Given the description of an element on the screen output the (x, y) to click on. 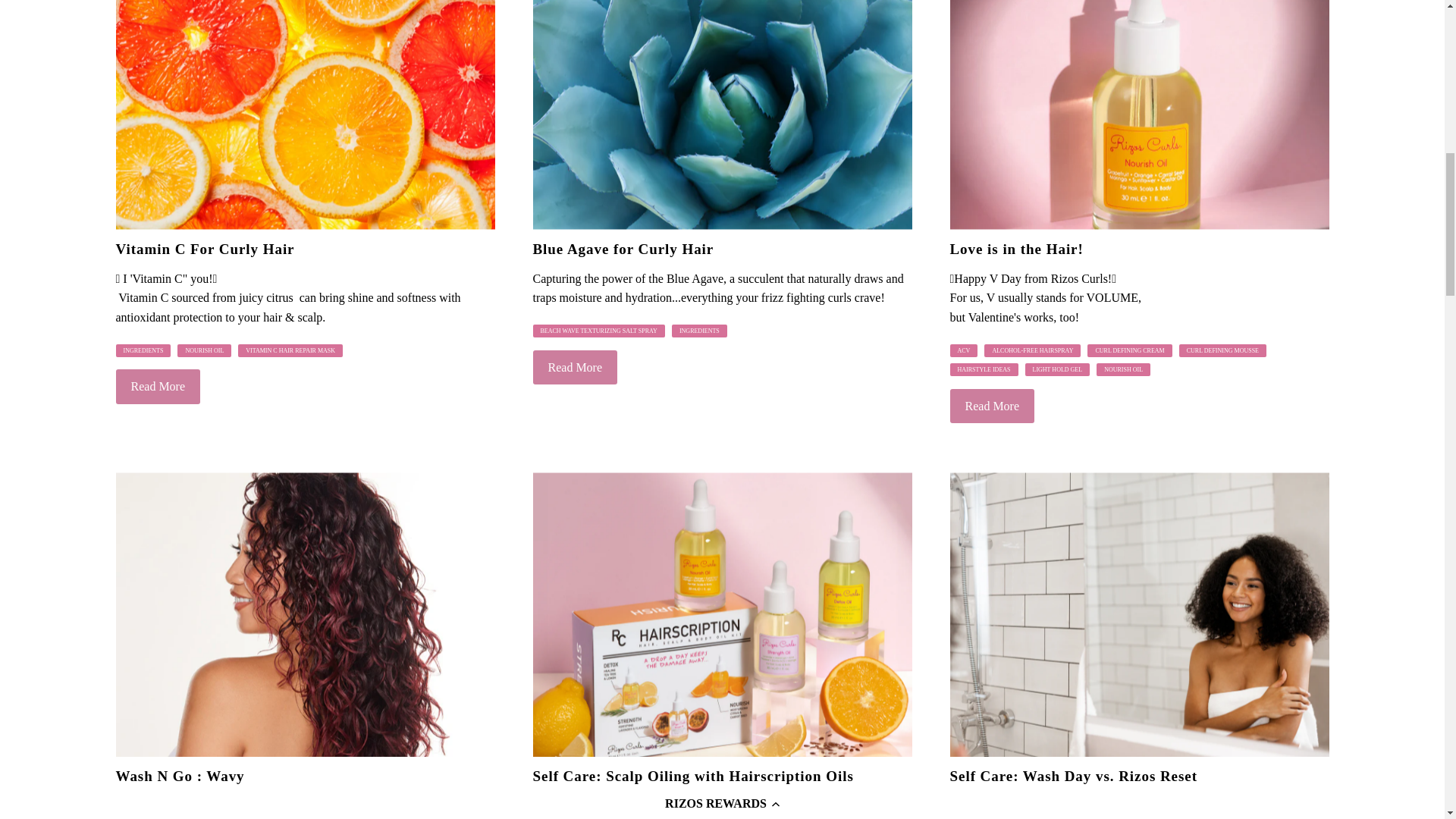
Love is in the Hair! (1138, 115)
Wash N Go : Wavy (305, 614)
Vitamin C For Curly Hair (305, 115)
Blue Agave for Curly Hair (721, 115)
Self Care: Wash Day vs. Rizos Reset (1138, 614)
Self Care: Scalp Oiling with Hairscription Oils (721, 614)
